Given the description of an element on the screen output the (x, y) to click on. 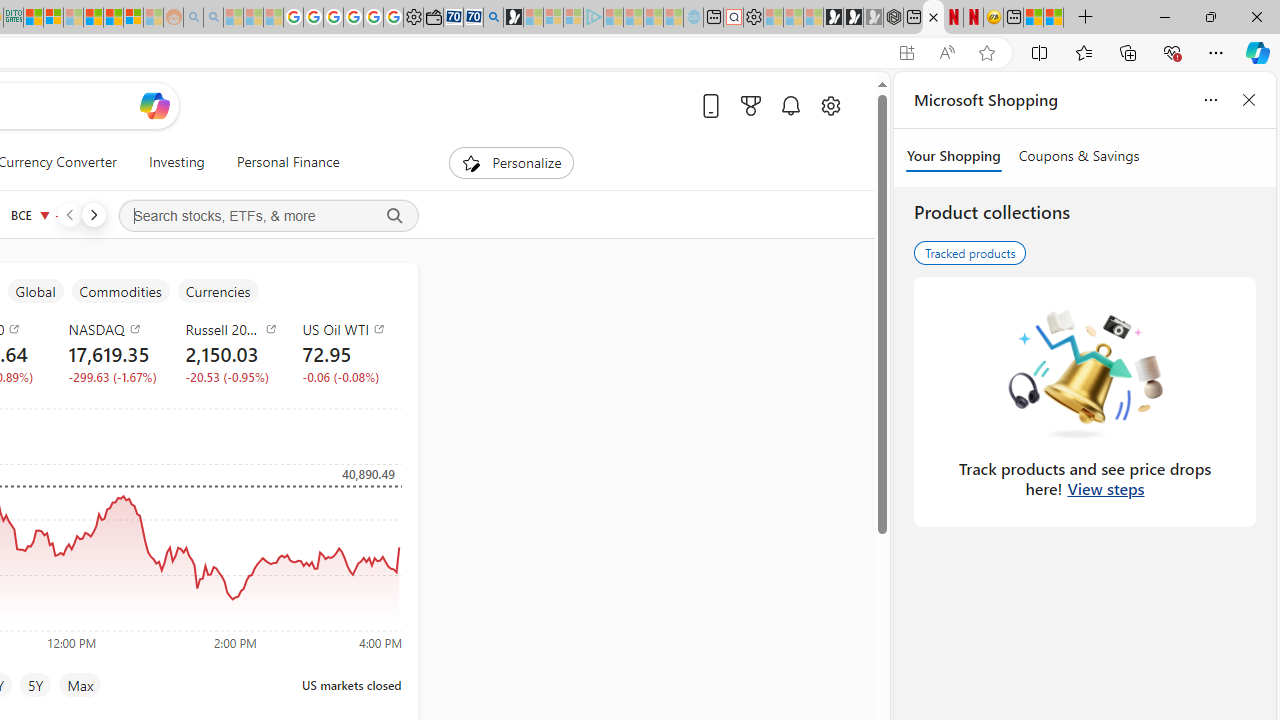
Open settings (830, 105)
Max (80, 684)
Russell 2000 (232, 328)
Wildlife - MSN (1033, 17)
Kinda Frugal - MSN (112, 17)
Search stocks, ETFs, & more (267, 215)
